Given the description of an element on the screen output the (x, y) to click on. 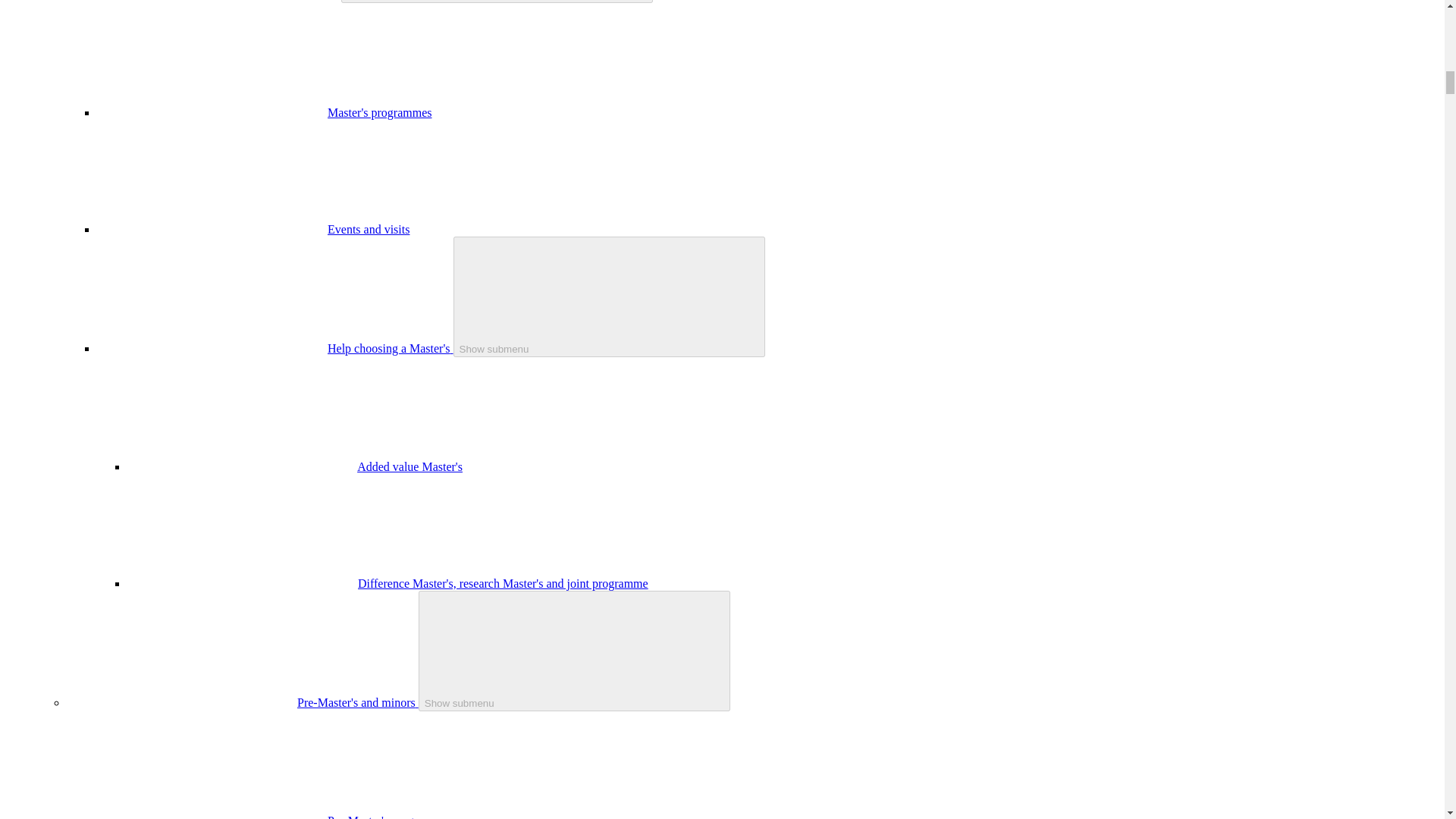
Show submenu (608, 296)
Master's programmes (379, 112)
Help choosing a Master's (389, 348)
Difference Master's, research Master's and joint programme (502, 583)
Show submenu (574, 650)
Events and visits (368, 228)
Pre-Master's and minors (358, 702)
Master's (318, 0)
Added value Master's (409, 466)
Pre-Master's programmes (389, 816)
